Given the description of an element on the screen output the (x, y) to click on. 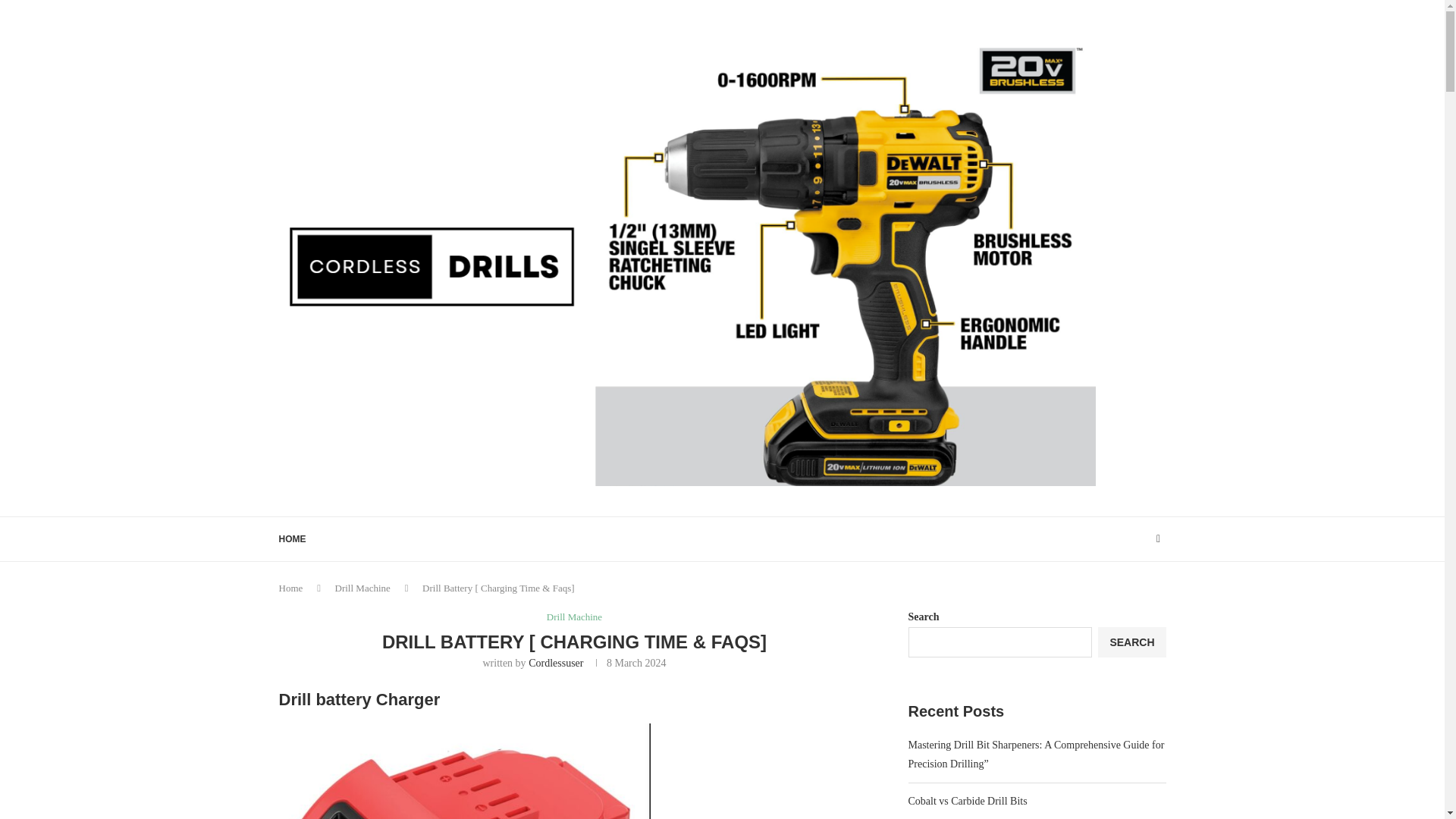
Drill Machine (362, 587)
Home (290, 587)
Drill Machine (574, 616)
Cordlessuser (555, 663)
